Given the description of an element on the screen output the (x, y) to click on. 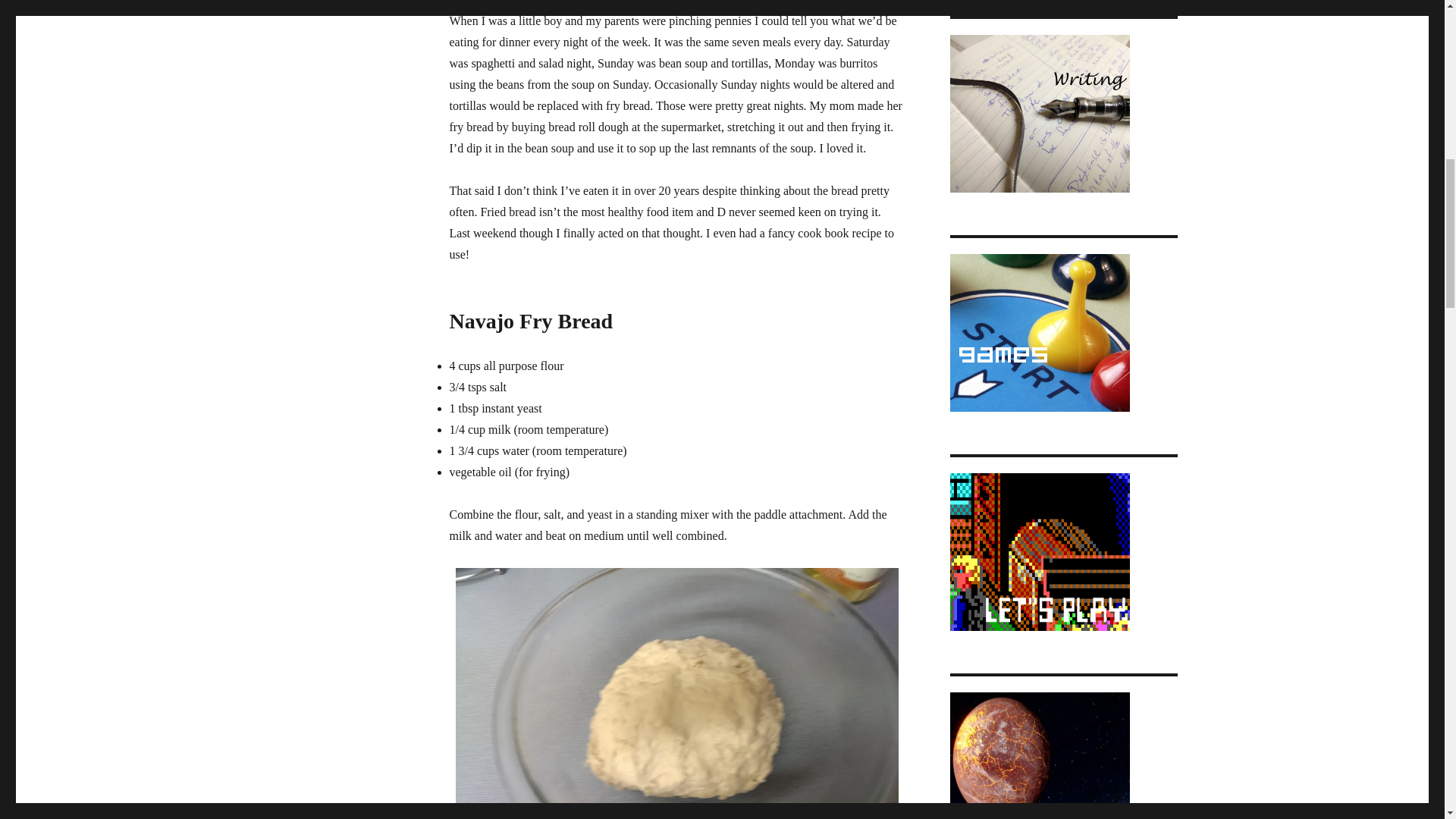
Let's Play (1039, 551)
Games (1039, 332)
Star Oops (1039, 755)
Writing (1039, 113)
